Given the description of an element on the screen output the (x, y) to click on. 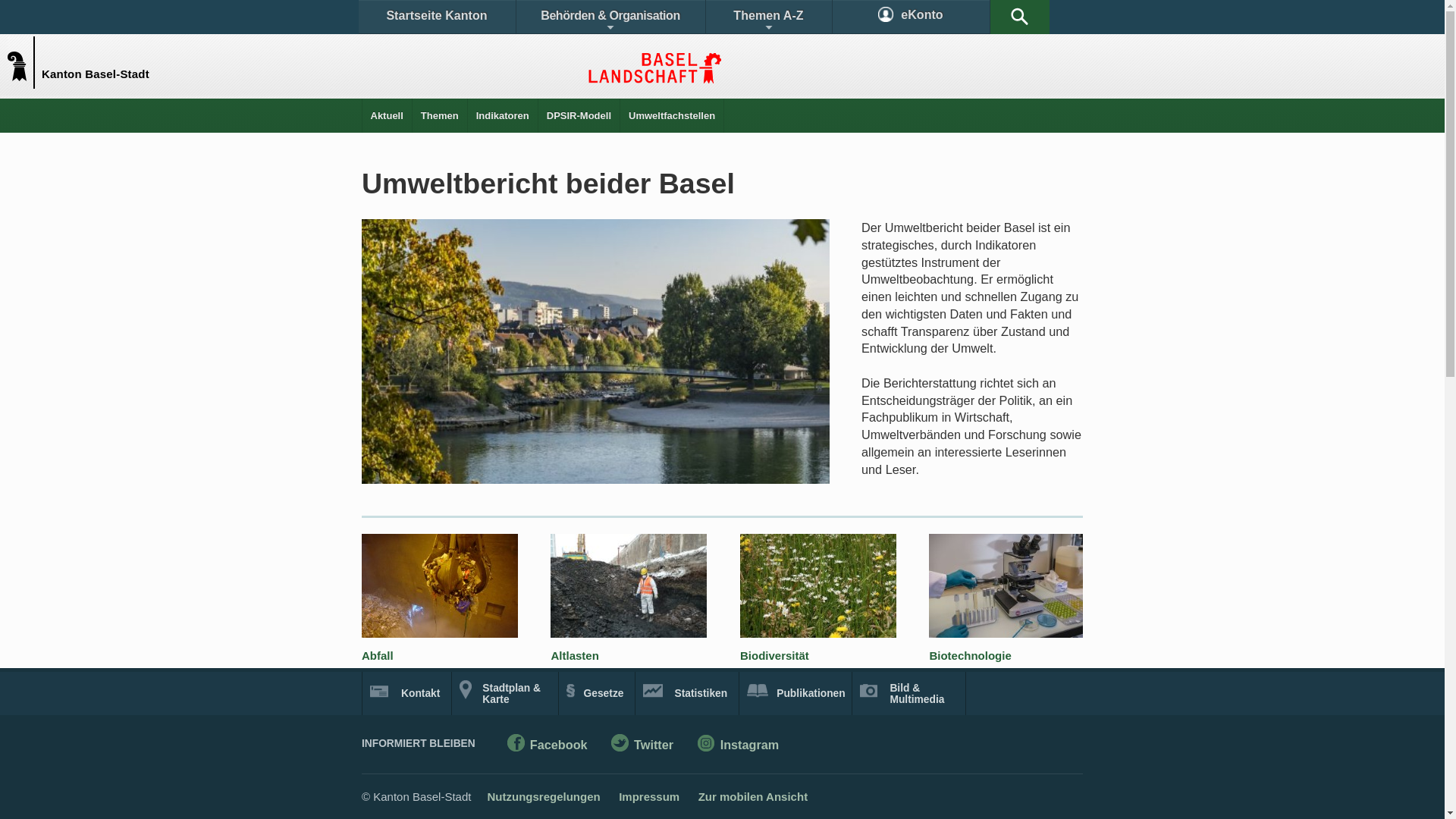
Altlasten Element type: text (574, 655)
Startseite Kanton Element type: text (435, 17)
Themen Element type: text (439, 115)
Nutzungsregelungen Element type: text (542, 796)
Twitter Element type: text (642, 746)
Publikationen Element type: text (795, 693)
Statistiken Element type: text (687, 693)
Instagram Element type: text (738, 746)
eKonto Element type: text (910, 17)
DPSIR-Modell Element type: text (578, 115)
Bild & Multimedia Element type: text (908, 693)
Abfall Element type: text (377, 655)
Themen A-Z Element type: text (768, 17)
Aktuell Element type: text (386, 115)
Biotechnologie Element type: text (969, 655)
Zur mobilen Ansicht Element type: text (752, 796)
Kontakt Element type: text (406, 693)
Gesetze Element type: text (597, 693)
Umweltfachstellen Element type: text (671, 115)
Indikatoren Element type: text (502, 115)
Stadtplan & Karte Element type: text (504, 693)
Facebook Element type: text (547, 746)
Impressum Element type: text (648, 796)
